Given the description of an element on the screen output the (x, y) to click on. 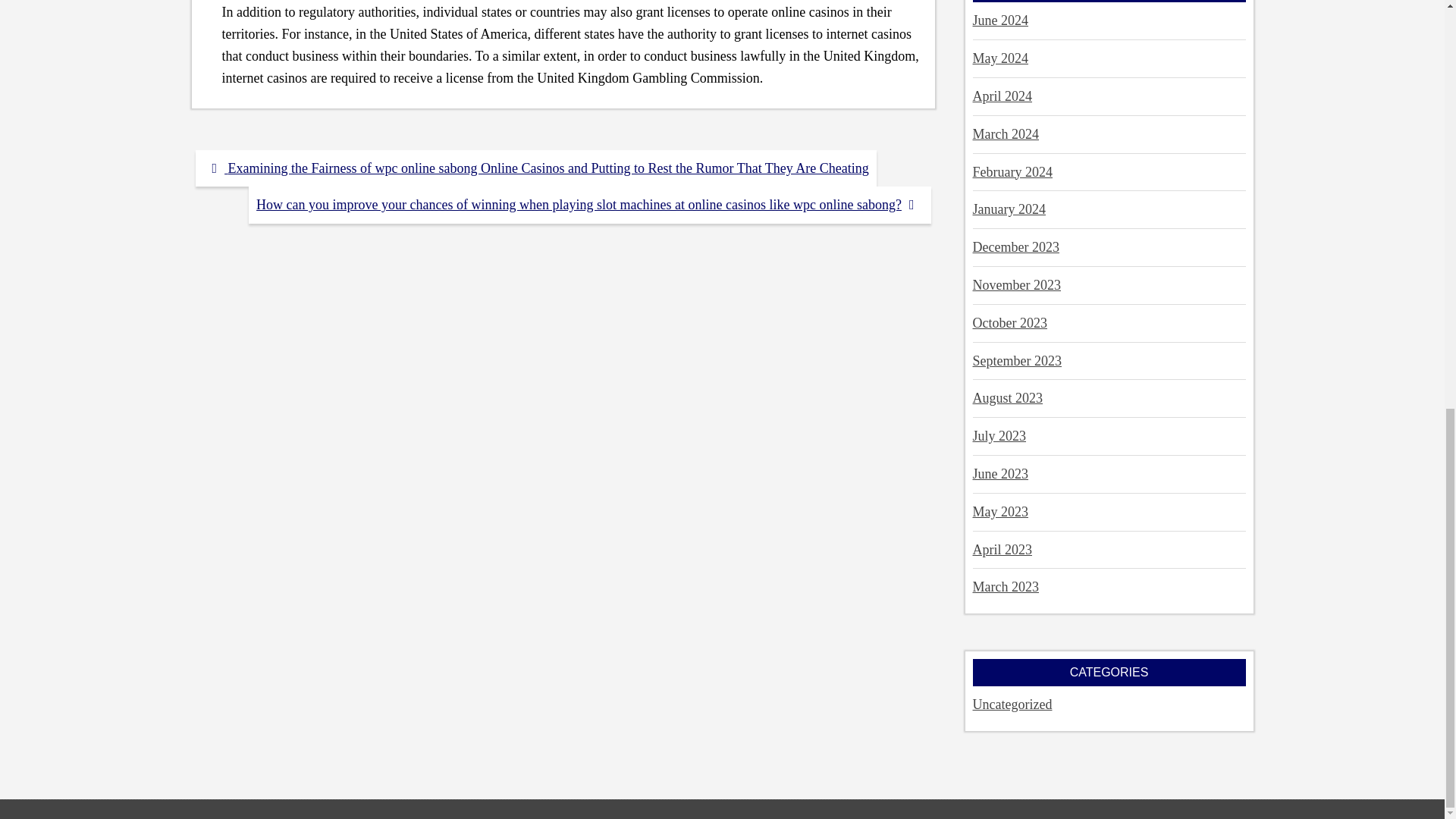
November 2023 (1015, 284)
June 2023 (999, 473)
August 2023 (1007, 397)
July 2023 (999, 435)
January 2024 (1008, 209)
December 2023 (1015, 246)
May 2023 (999, 511)
June 2024 (999, 20)
October 2023 (1009, 322)
